Given the description of an element on the screen output the (x, y) to click on. 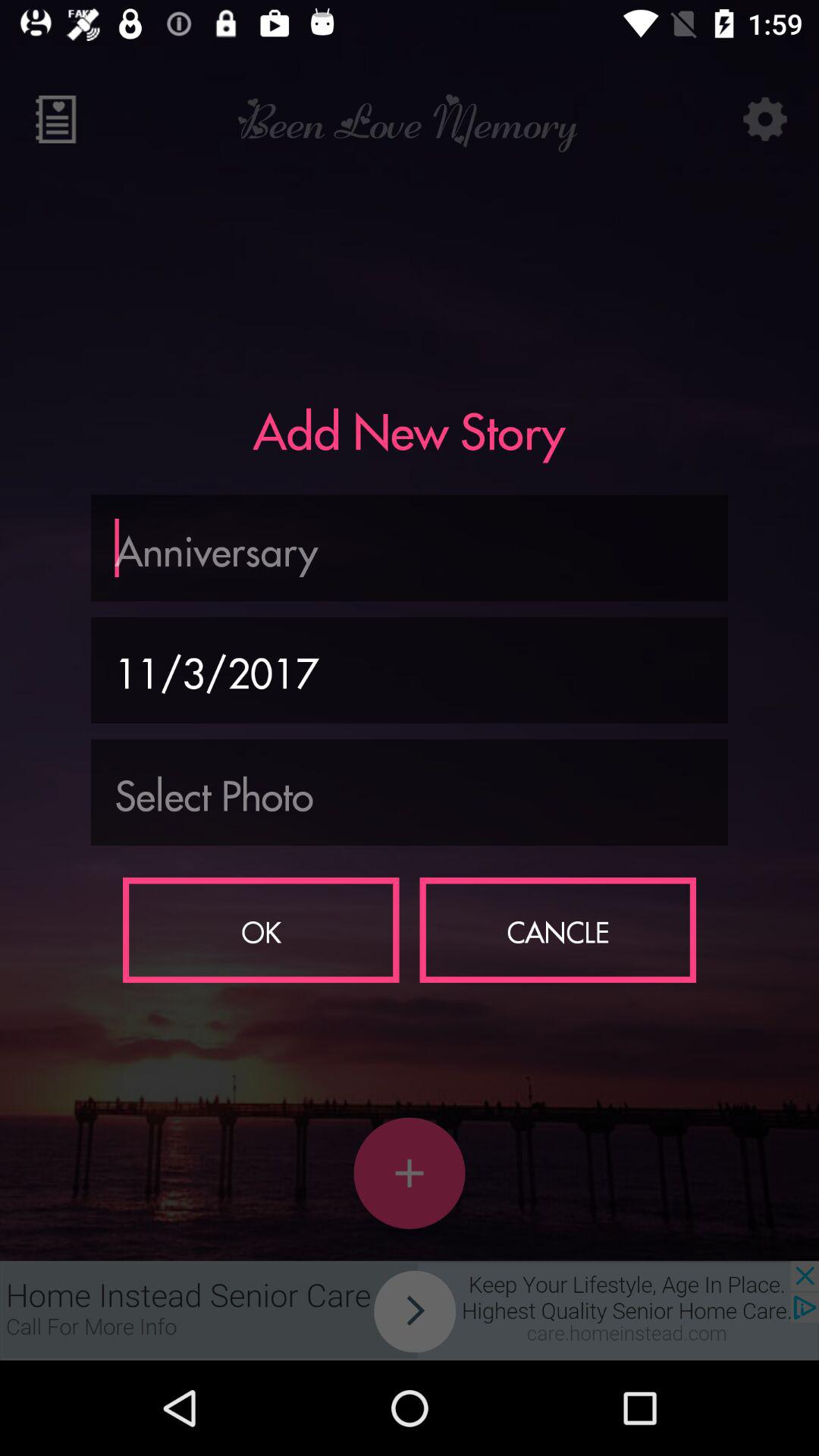
select the item below 11/3/2017 (409, 792)
